Given the description of an element on the screen output the (x, y) to click on. 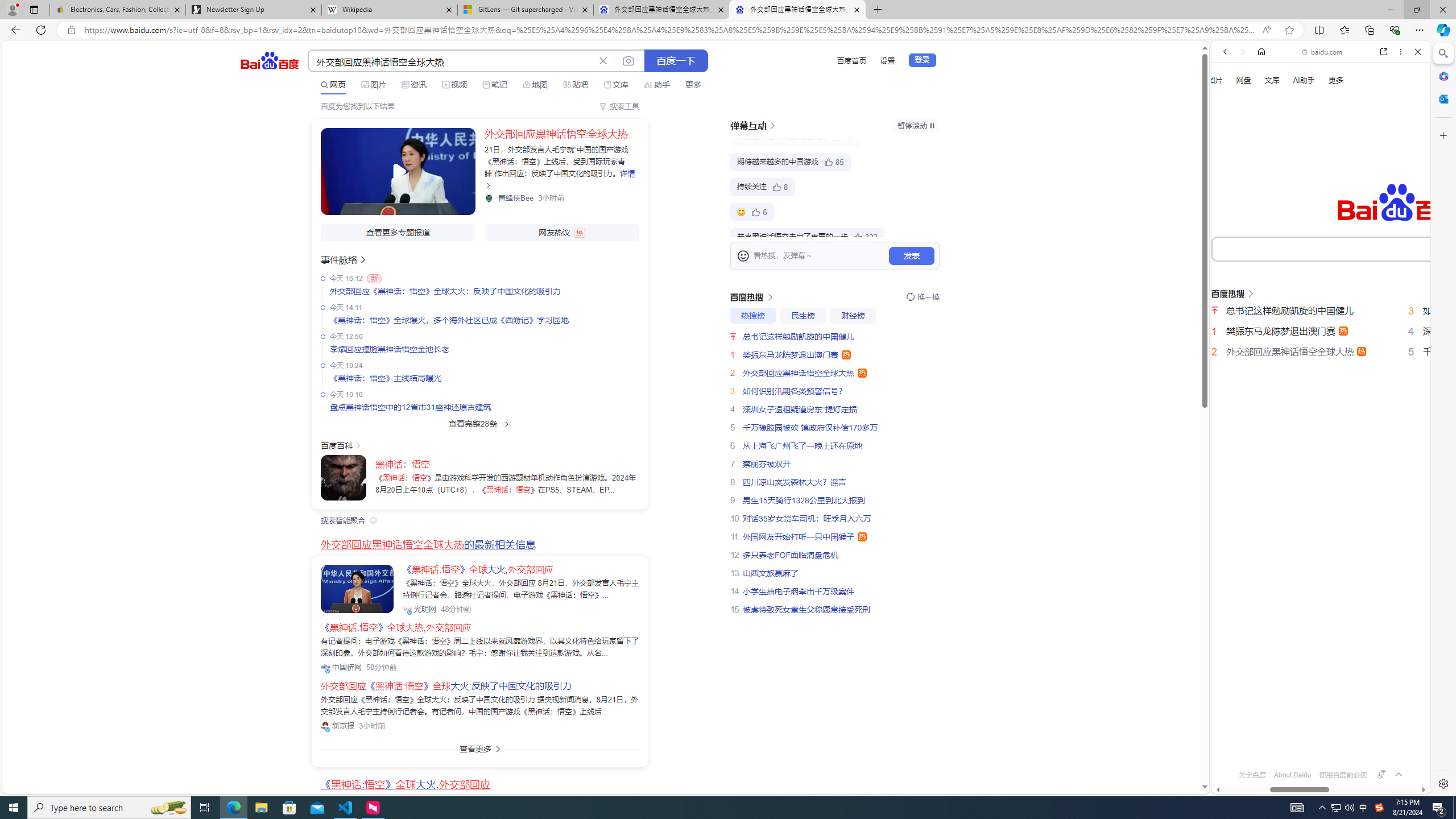
Search Filter, Search Tools (1350, 192)
Search (1442, 53)
Customize (1442, 135)
Search the web (1326, 78)
Class: b_serphb (1404, 193)
